Given the description of an element on the screen output the (x, y) to click on. 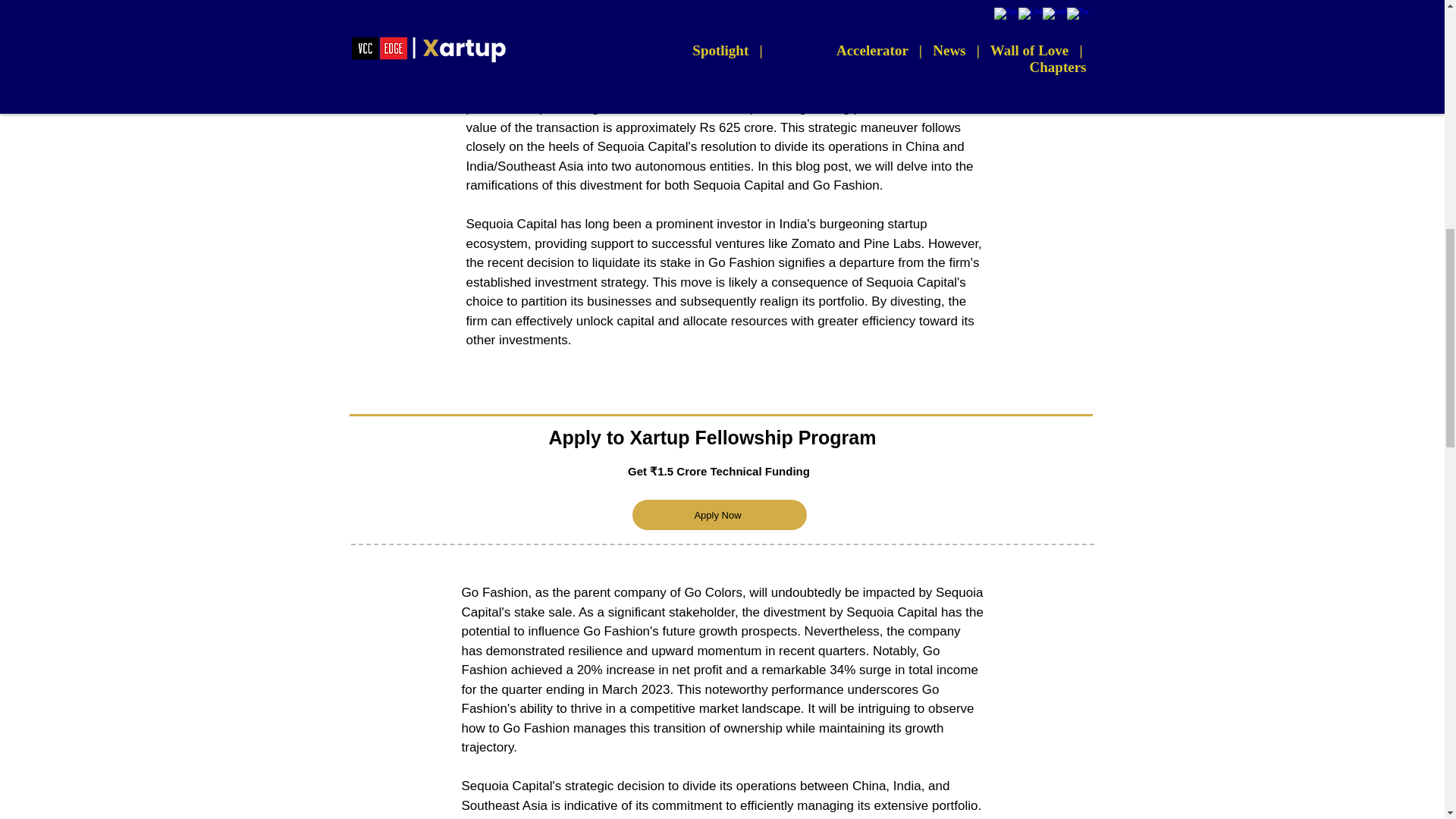
Go Fashion, (514, 69)
Apply Now (718, 514)
Go Colors (940, 69)
Sequoia Capital (634, 49)
Venture capital (507, 49)
